Given the description of an element on the screen output the (x, y) to click on. 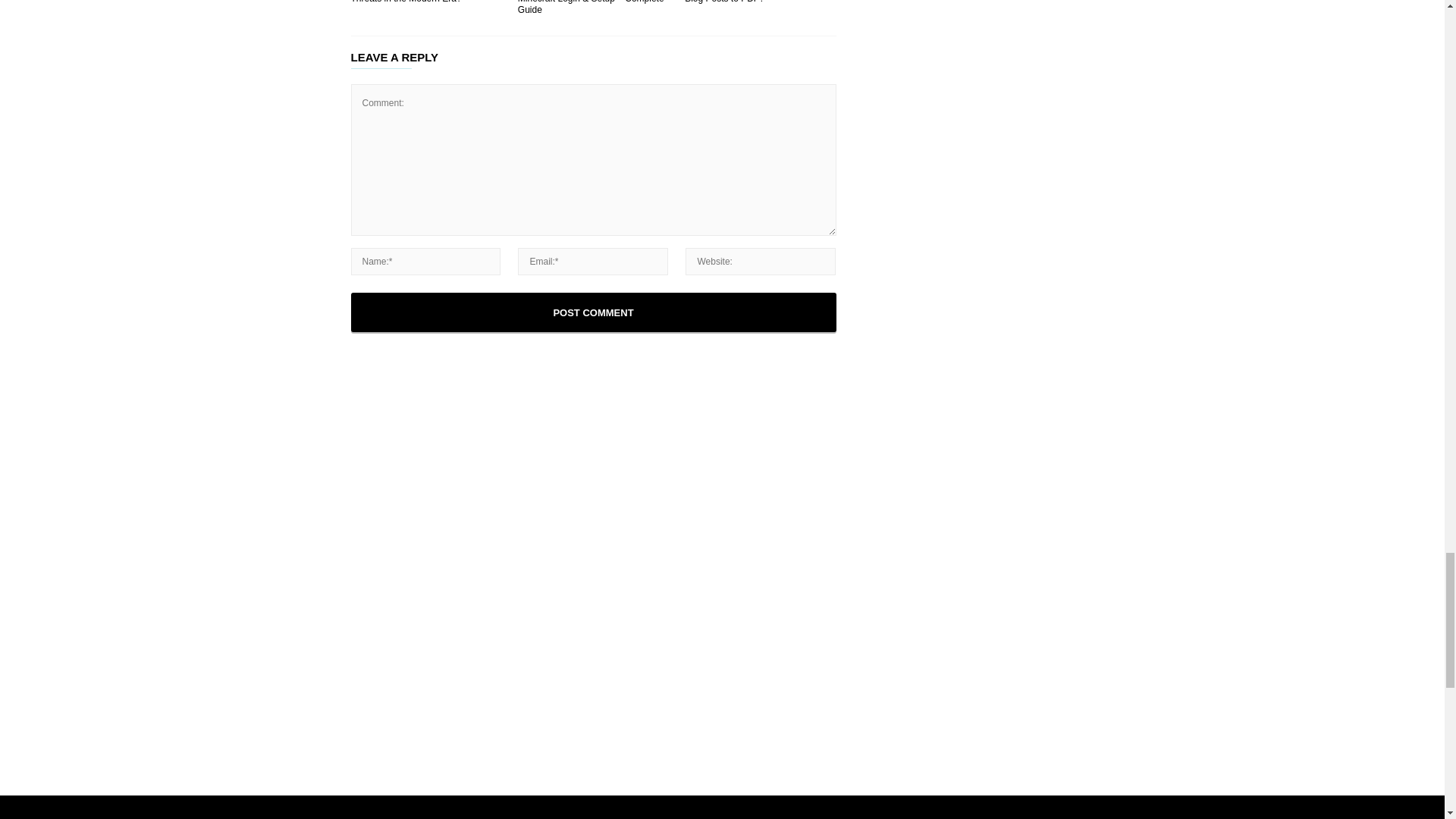
Post Comment (592, 312)
